Given the description of an element on the screen output the (x, y) to click on. 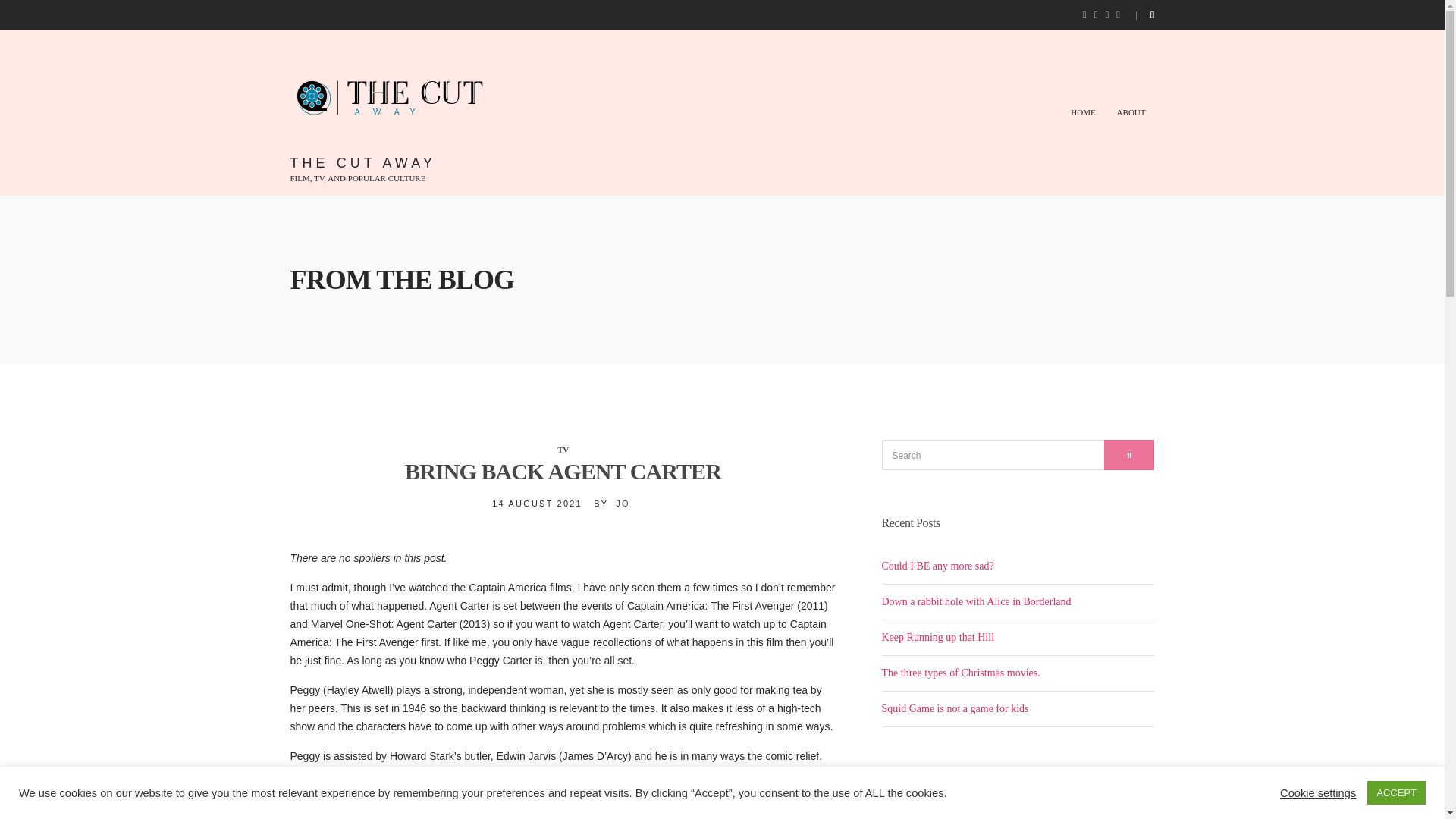
Squid Game is not a game for kids (953, 708)
Down a rabbit hole with Alice in Borderland (975, 601)
TV (563, 449)
THE CUT AWAY (362, 162)
HOME (1082, 112)
SEARCH (1128, 454)
The three types of Christmas movies. (959, 672)
Could I BE any more sad? (936, 565)
JO (621, 502)
ABOUT (1130, 112)
Keep Running up that Hill (937, 636)
